Given the description of an element on the screen output the (x, y) to click on. 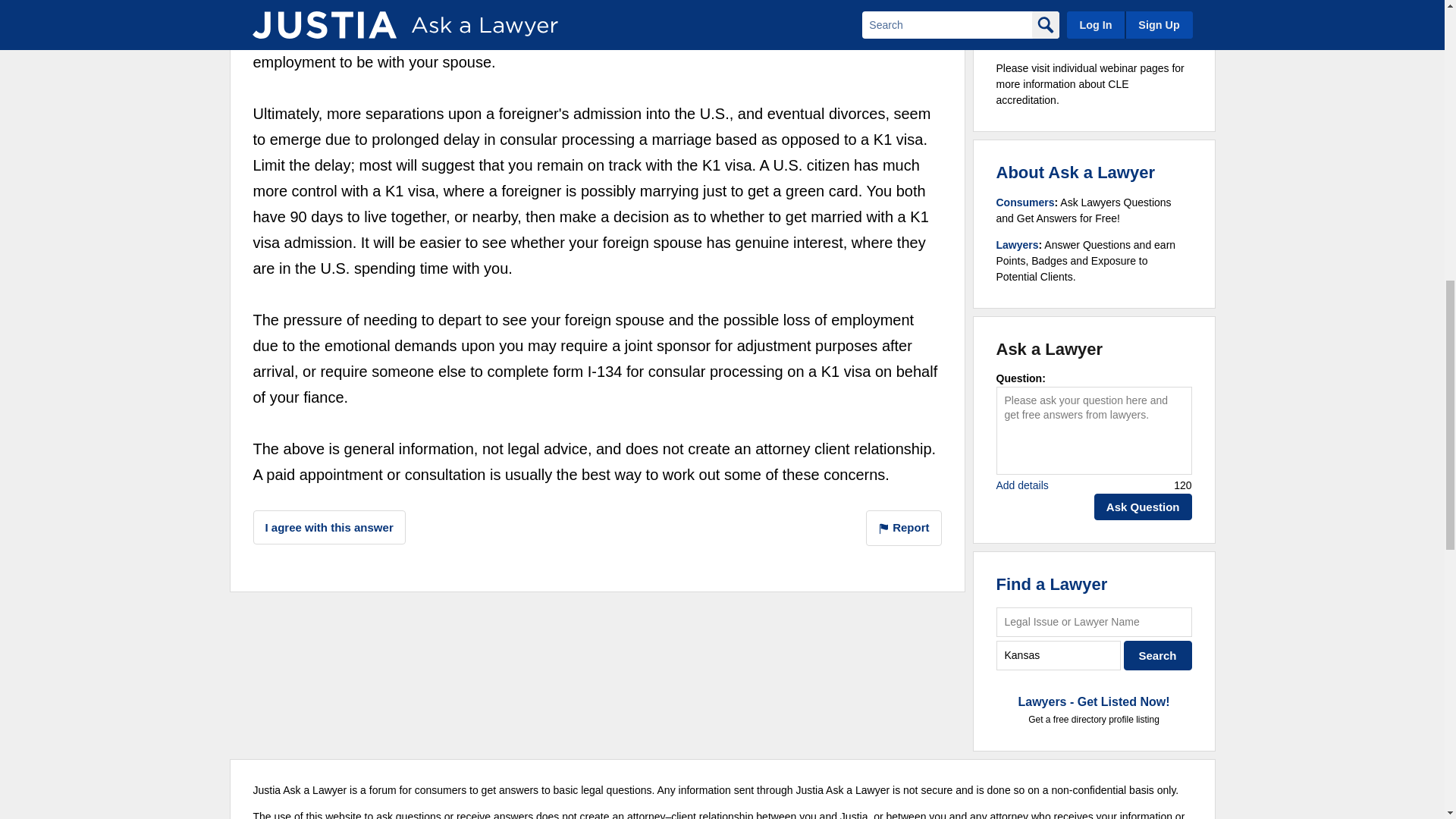
I agree with this answer (329, 527)
Ask a Lawyer - FAQs - Consumers (1024, 202)
Kansas (1058, 655)
City, State (1058, 655)
Search (1158, 655)
Legal Issue or Lawyer Name (1093, 622)
Ask a Lawyer - FAQs - Lawyers (1017, 244)
Report (904, 528)
Search (1158, 655)
